Given the description of an element on the screen output the (x, y) to click on. 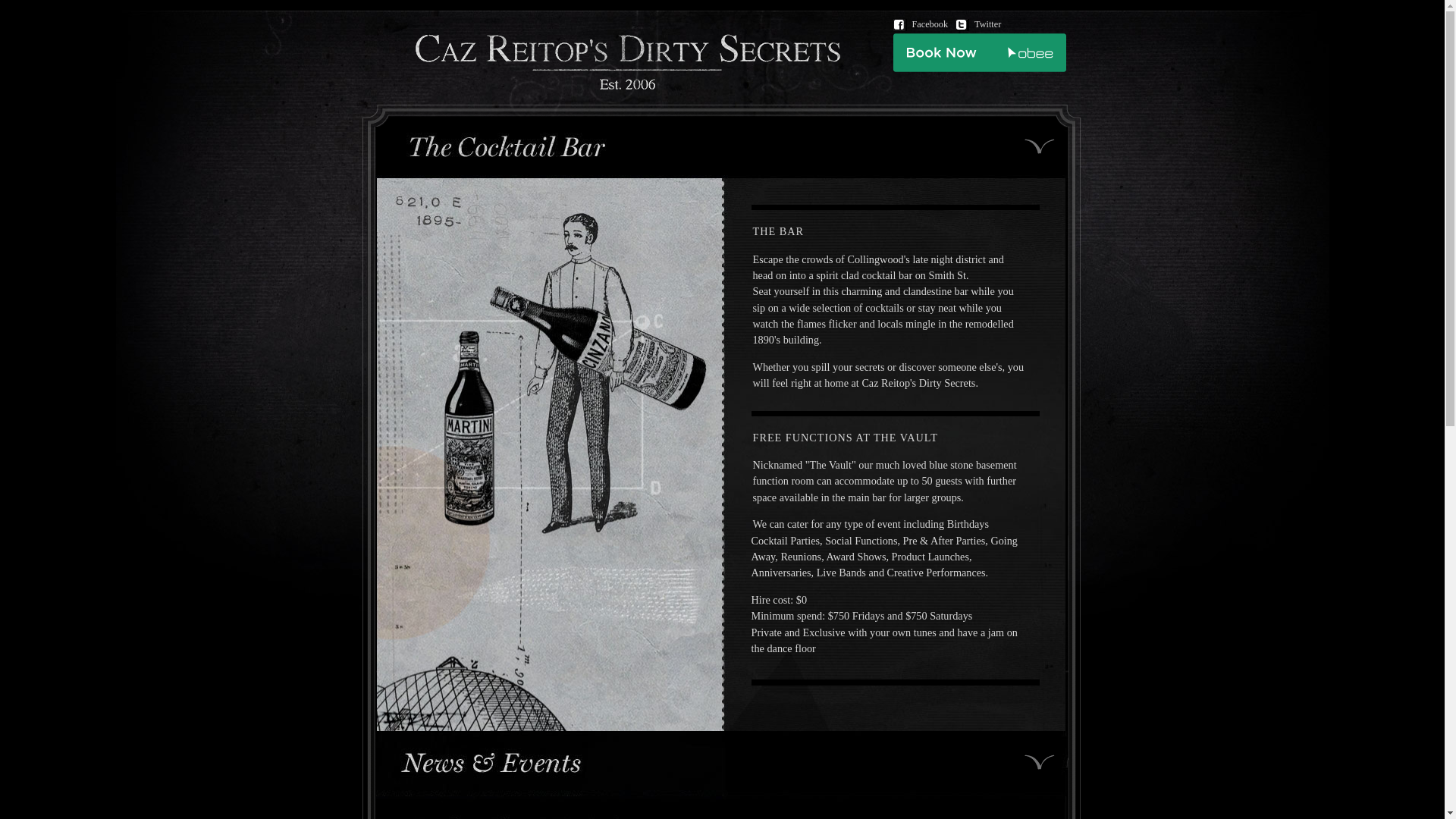
Home Element type: hover (627, 85)
Facebook Element type: text (924, 24)
Jump to navigation Element type: text (41, 10)
Twitter Element type: text (981, 24)
